Given the description of an element on the screen output the (x, y) to click on. 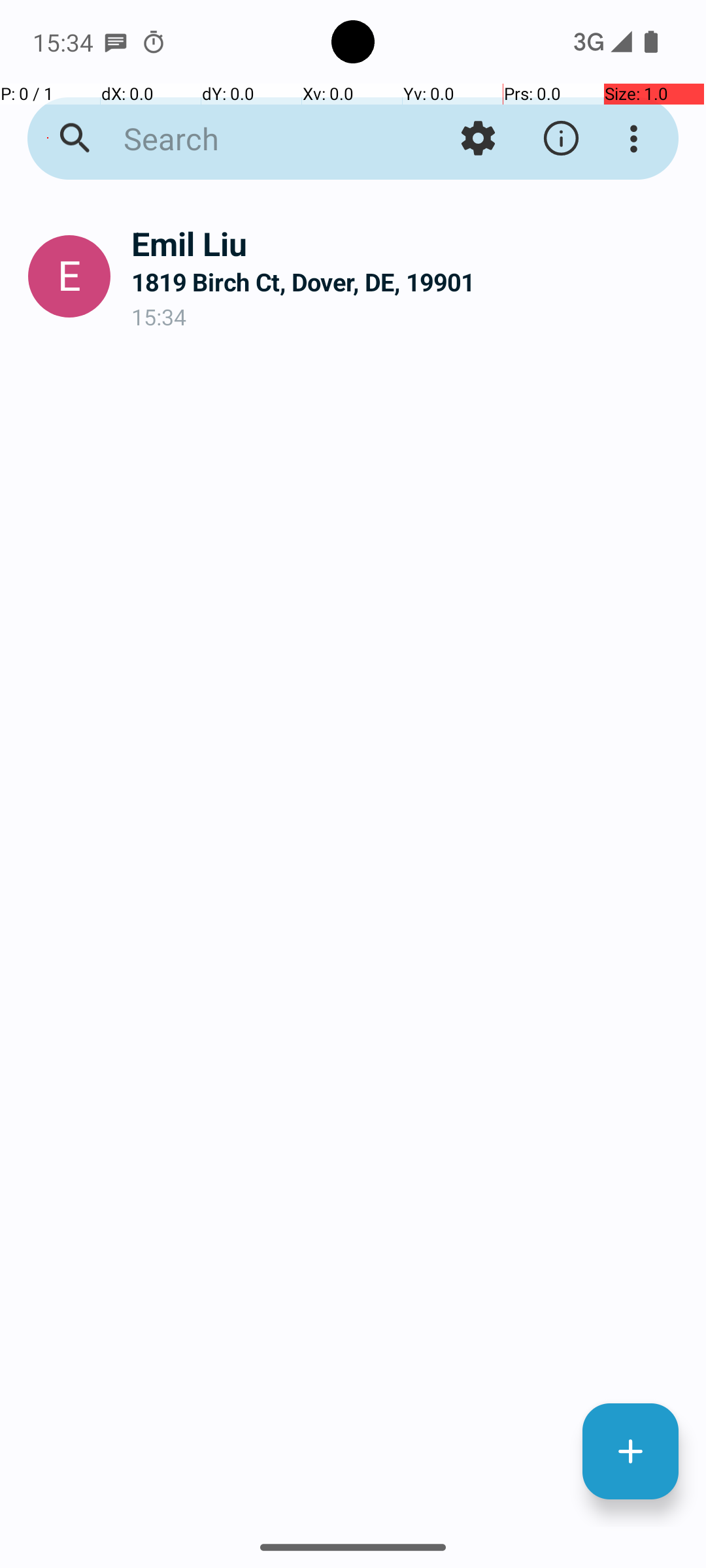
1819 Birch Ct, Dover, DE, 19901 Element type: android.widget.TextView (408, 281)
SMS Messenger notification: Emil Liu Element type: android.widget.ImageView (115, 41)
